Given the description of an element on the screen output the (x, y) to click on. 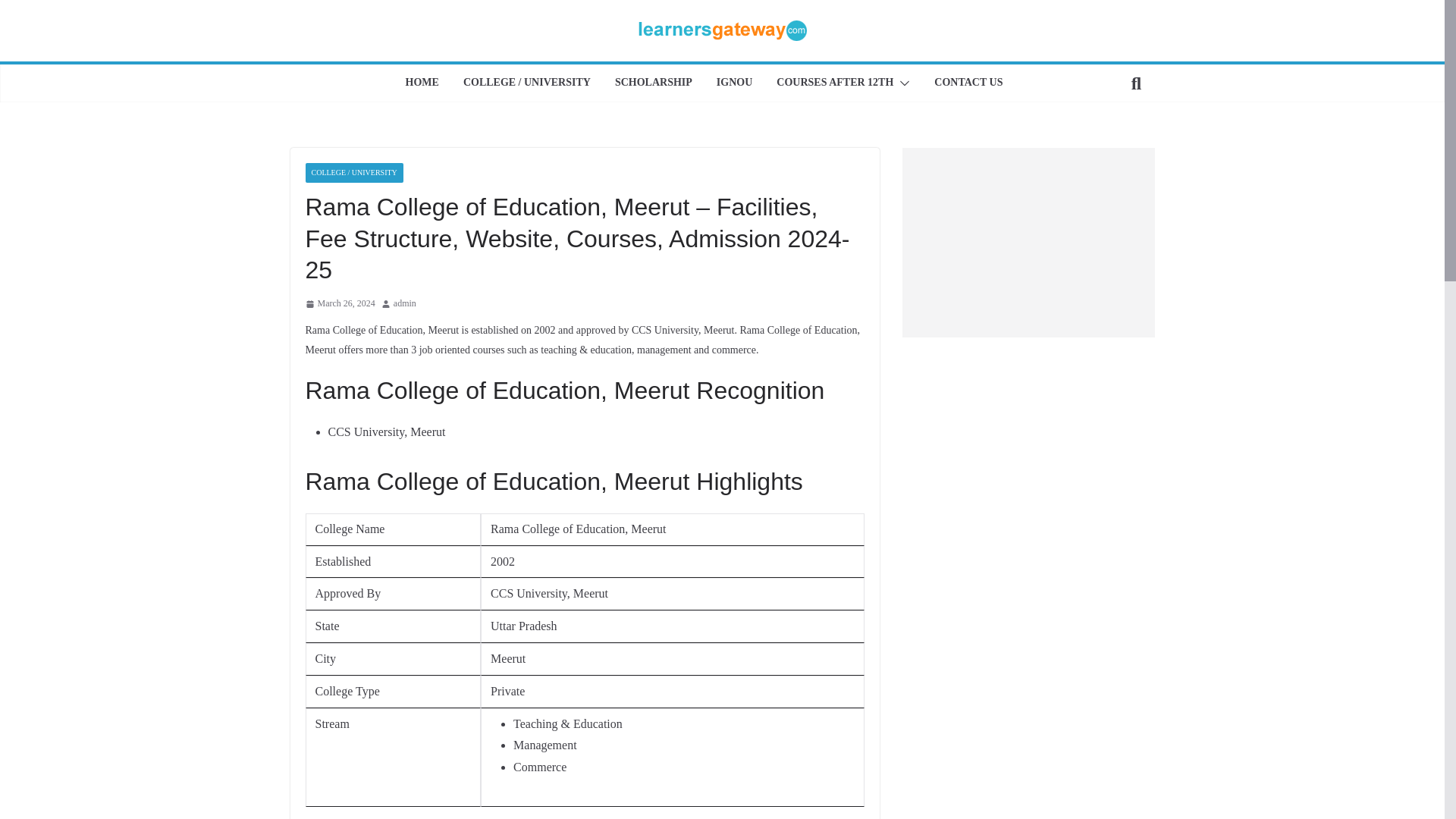
CONTACT US (968, 83)
admin (404, 303)
March 26, 2024 (339, 303)
COURSES AFTER 12TH (834, 83)
6:00 am (339, 303)
admin (404, 303)
HOME (422, 83)
IGNOU (734, 83)
SCHOLARSHIP (653, 83)
